Given the description of an element on the screen output the (x, y) to click on. 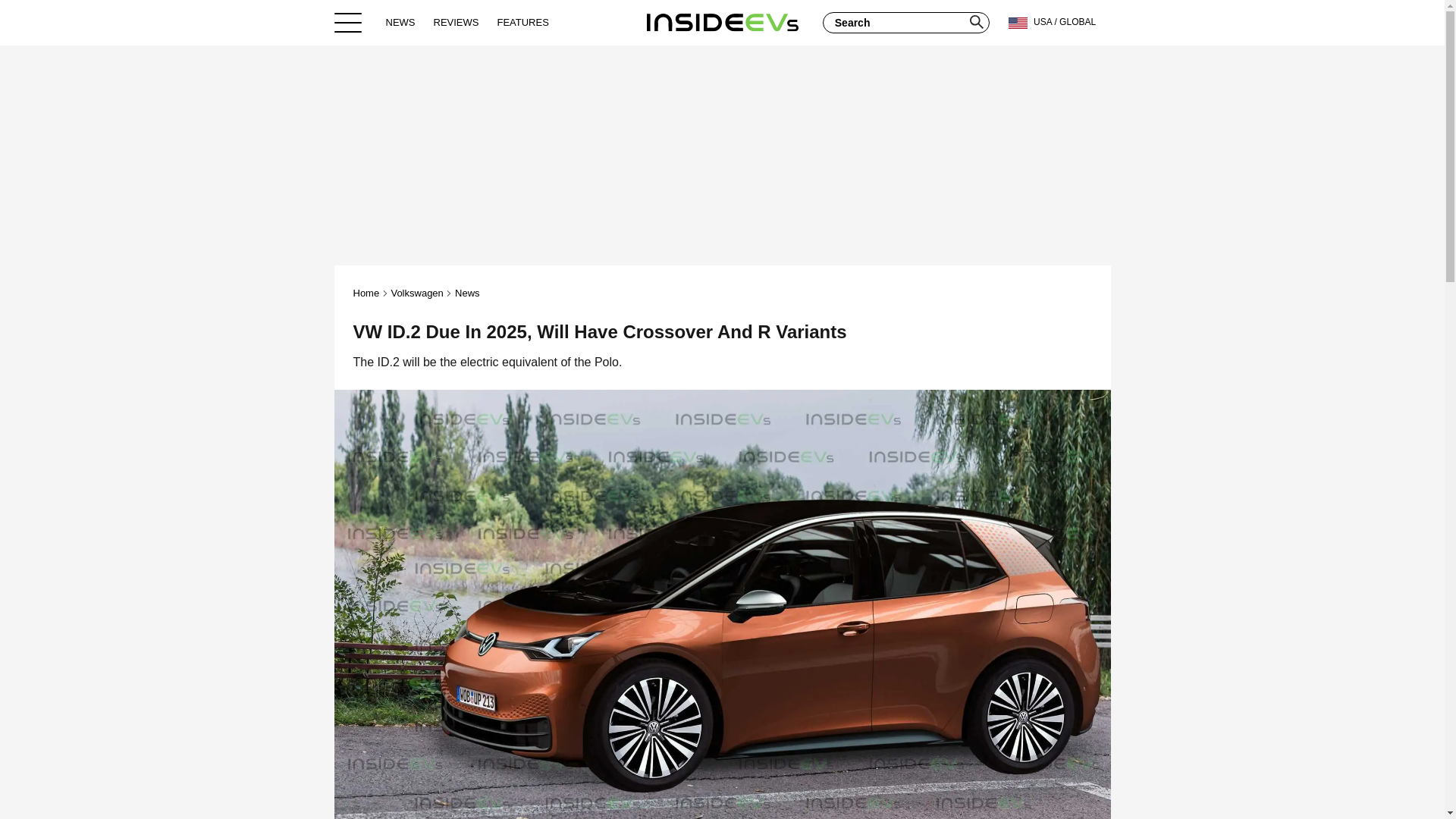
NEWS (399, 22)
REVIEWS (456, 22)
Volkswagen (416, 292)
Home (721, 22)
Home (366, 293)
News (467, 292)
FEATURES (522, 22)
